Given the description of an element on the screen output the (x, y) to click on. 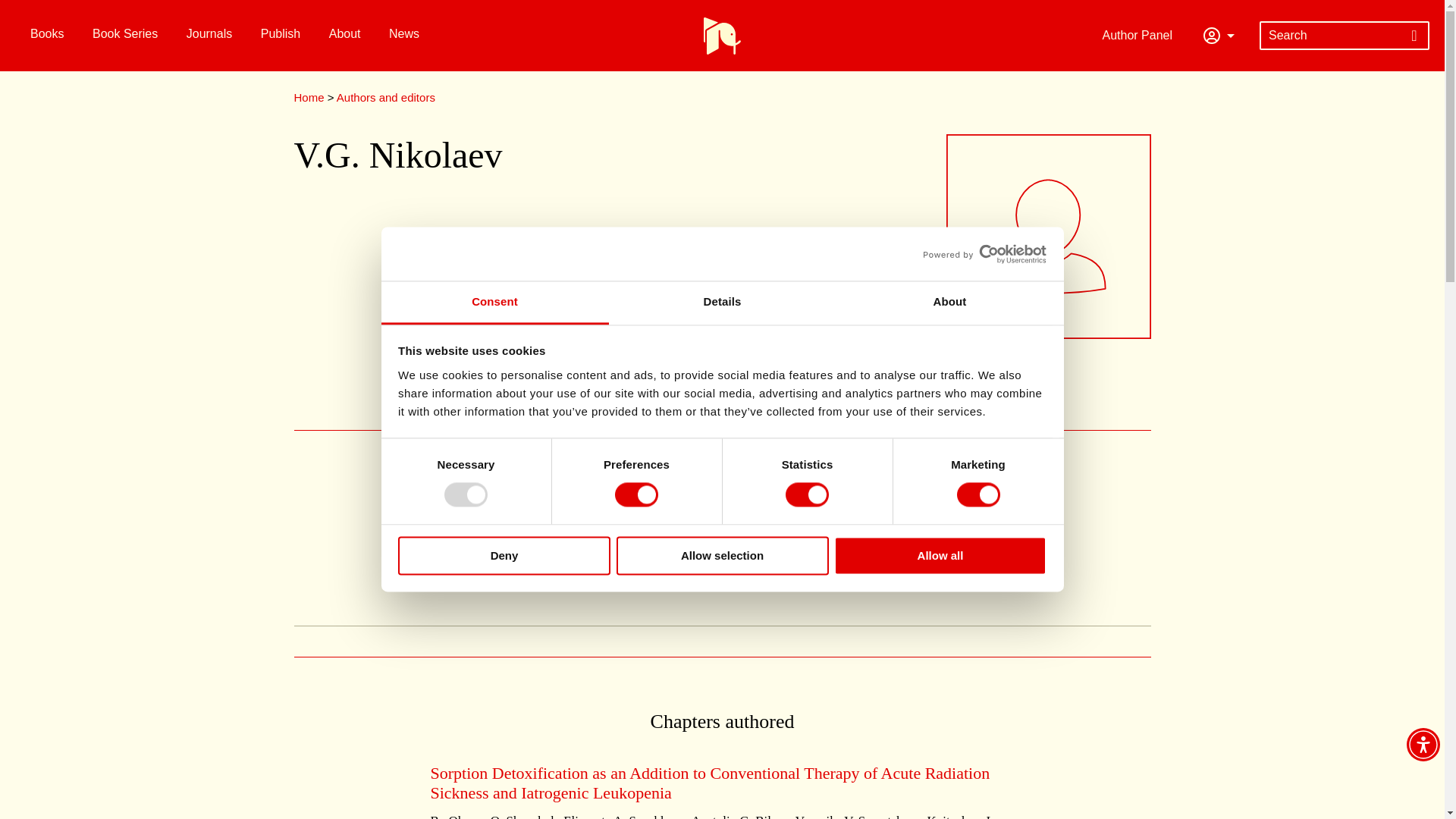
About (948, 302)
Consent (494, 302)
Accessibility Menu (1422, 744)
Details (721, 302)
